Given the description of an element on the screen output the (x, y) to click on. 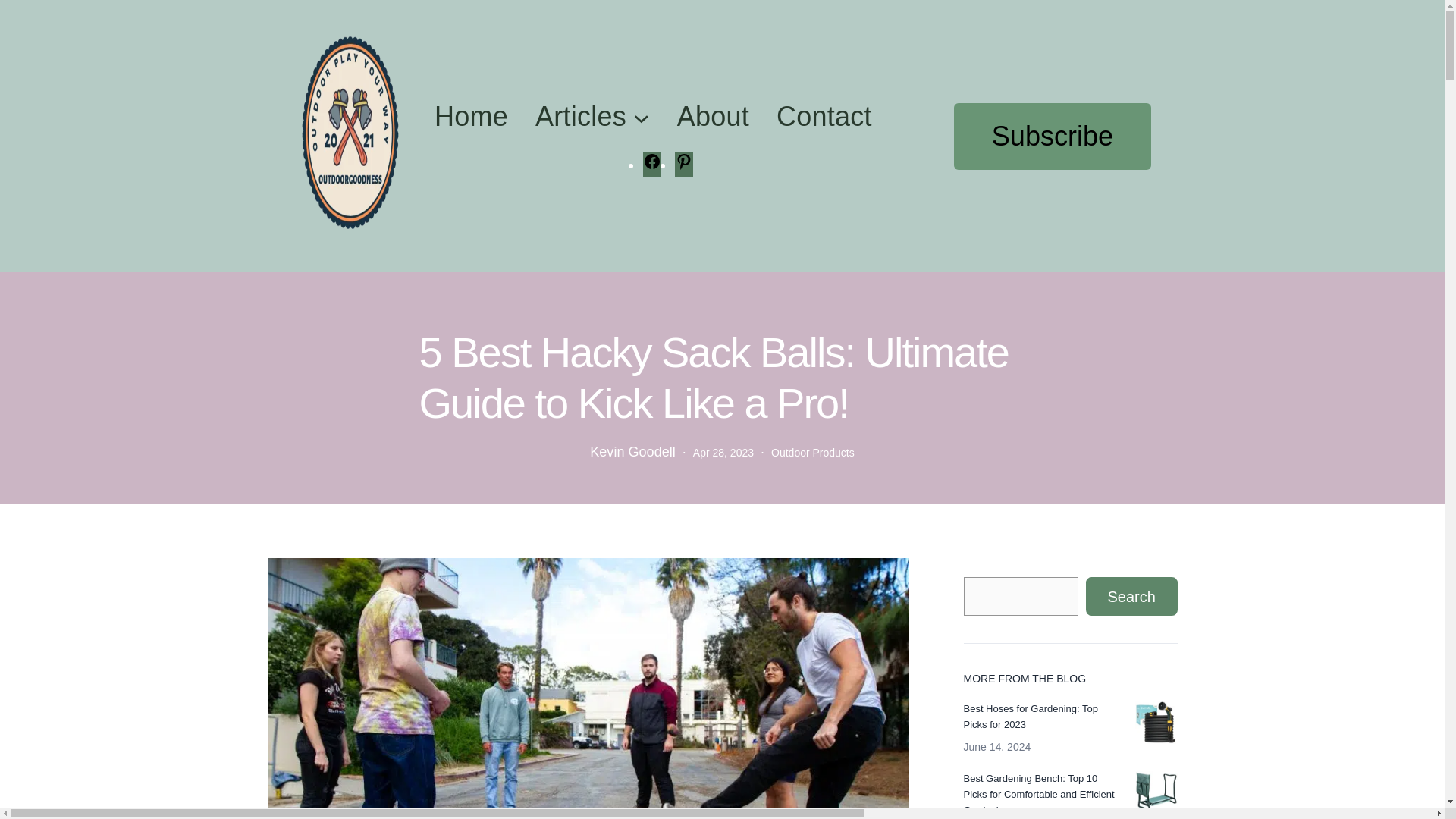
Articles (580, 116)
Outdoor Products (812, 452)
Home (470, 116)
About (713, 116)
Pinterest (684, 165)
Facebook (652, 165)
Contact (824, 116)
Subscribe (1052, 136)
